Given the description of an element on the screen output the (x, y) to click on. 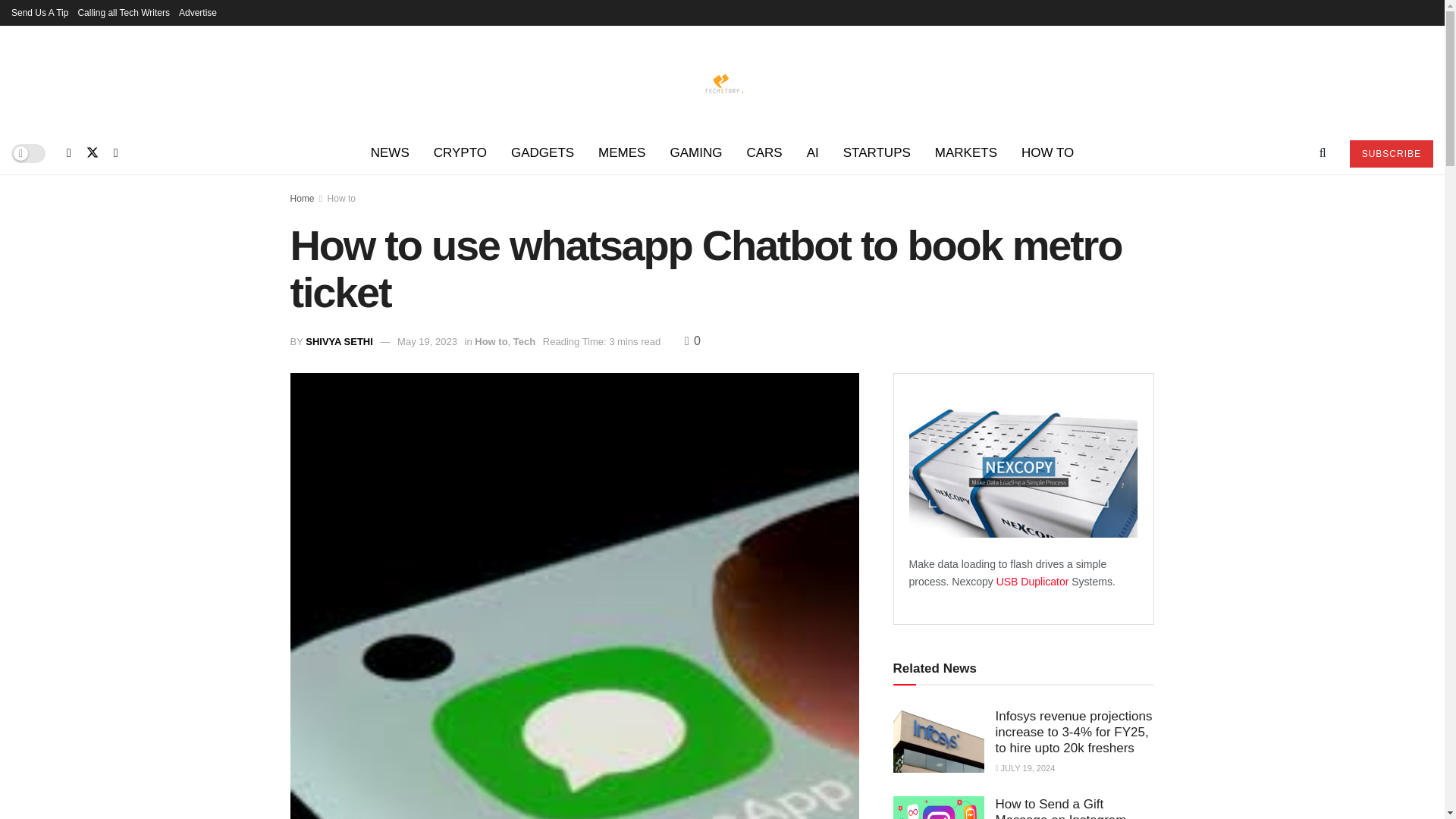
How to (341, 198)
SUBSCRIBE (1390, 153)
CARS (763, 152)
USB duplicator (1033, 581)
MARKETS (966, 152)
Calling all Tech Writers (123, 12)
Home (301, 198)
GAMING (695, 152)
GADGETS (542, 152)
NEWS (390, 152)
STARTUPS (877, 152)
MEMES (622, 152)
Send Us A Tip (39, 12)
SHIVYA SETHI (338, 341)
CRYPTO (460, 152)
